Given the description of an element on the screen output the (x, y) to click on. 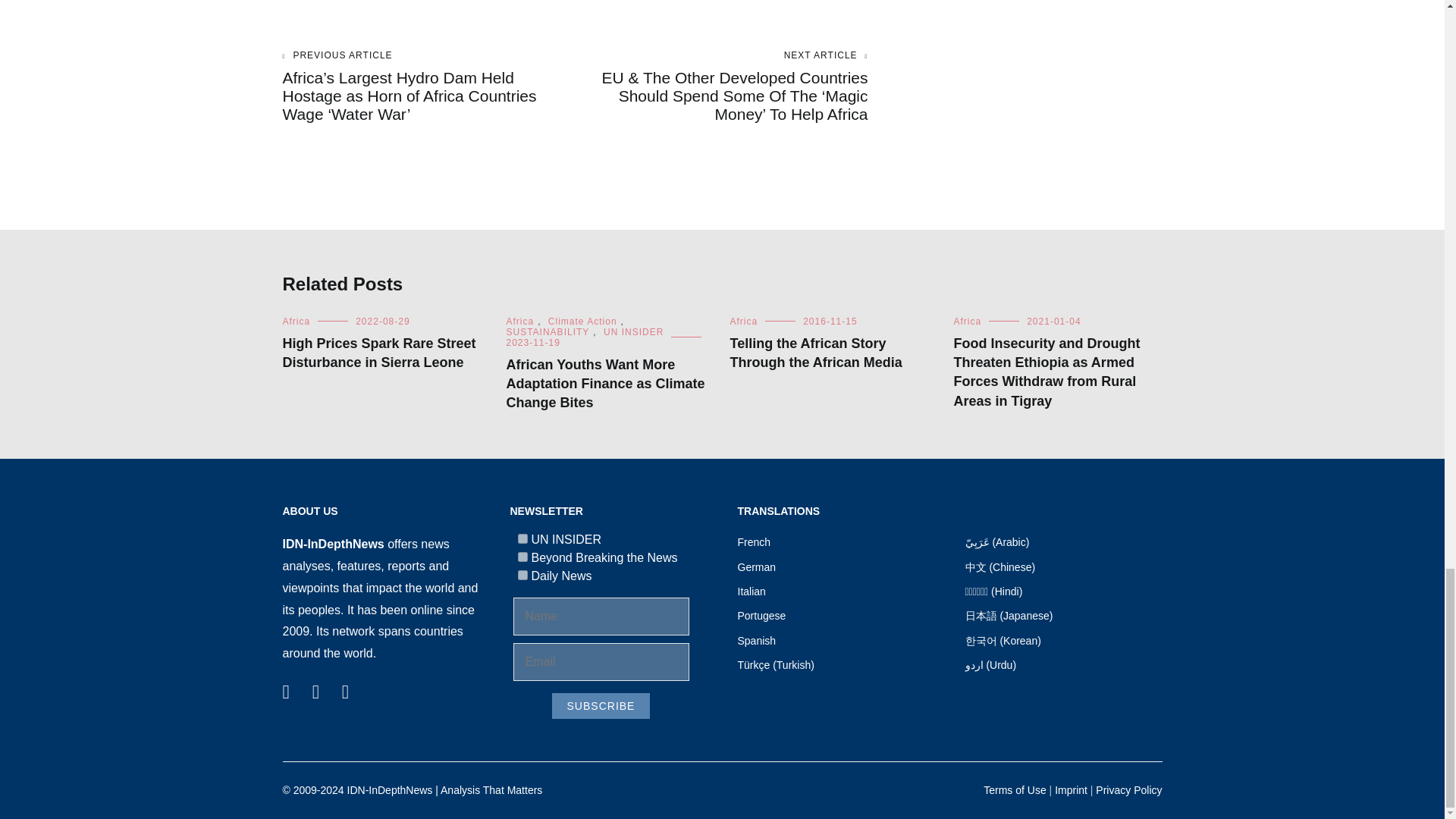
Terms of Use (1014, 789)
9 (521, 556)
Imprint (1070, 789)
10 (521, 574)
7 (521, 538)
